Given the description of an element on the screen output the (x, y) to click on. 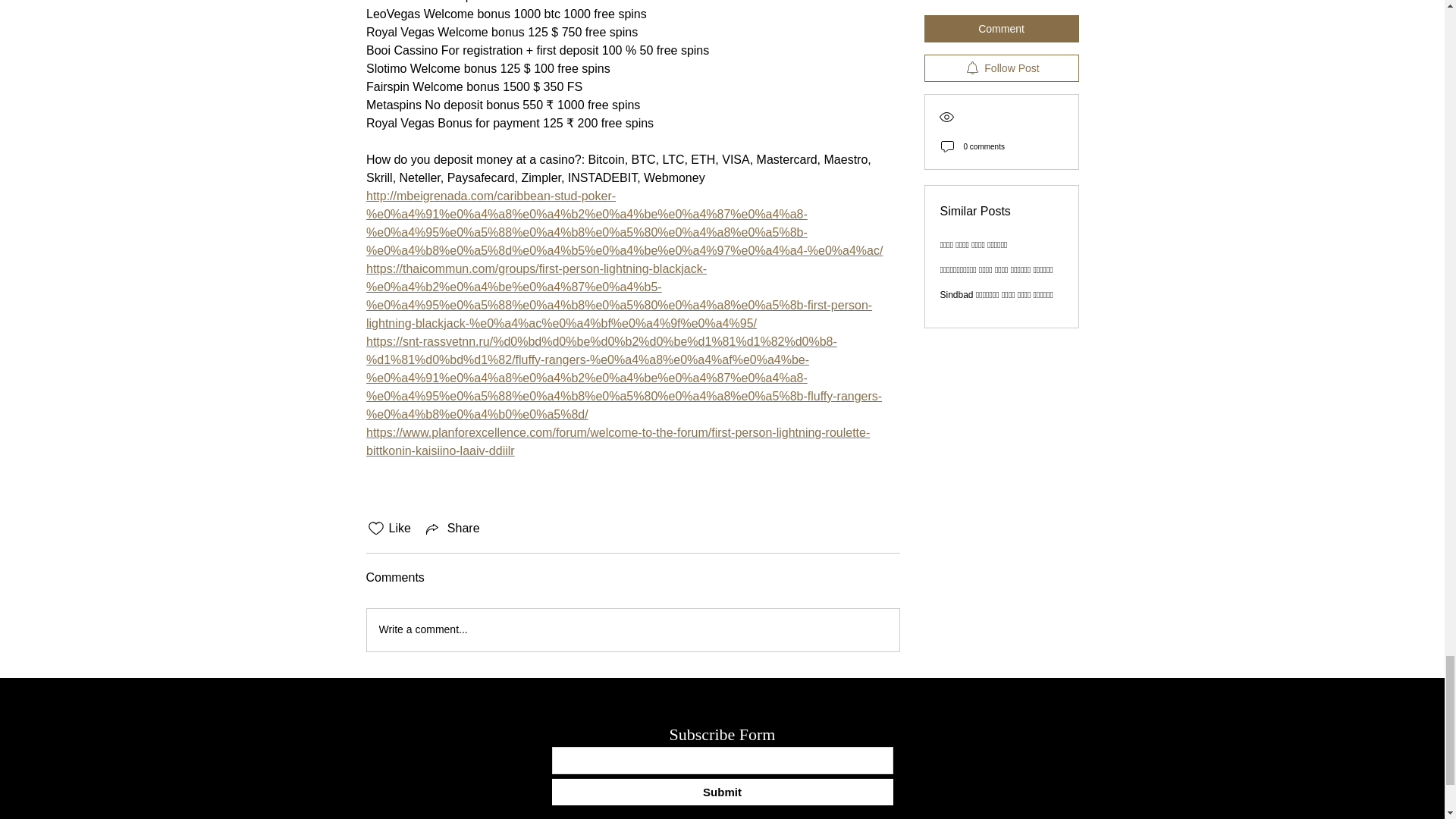
Write a comment... (632, 630)
Share (451, 528)
Submit (722, 791)
